Given the description of an element on the screen output the (x, y) to click on. 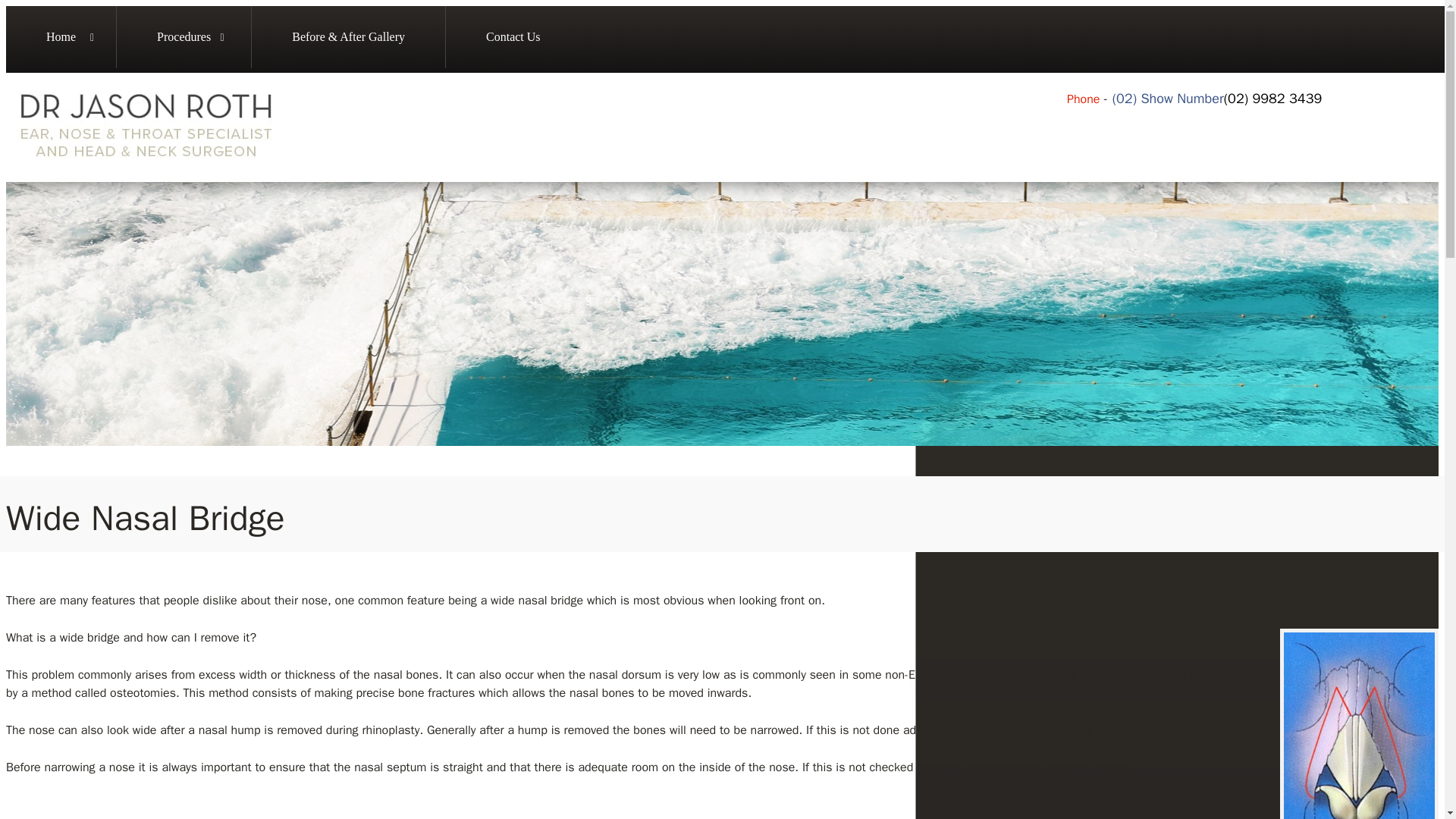
Contact Us (512, 36)
Call Our Office Now (1273, 98)
Procedures (183, 36)
Dr Jason Roth (146, 159)
Home (60, 36)
